Given the description of an element on the screen output the (x, y) to click on. 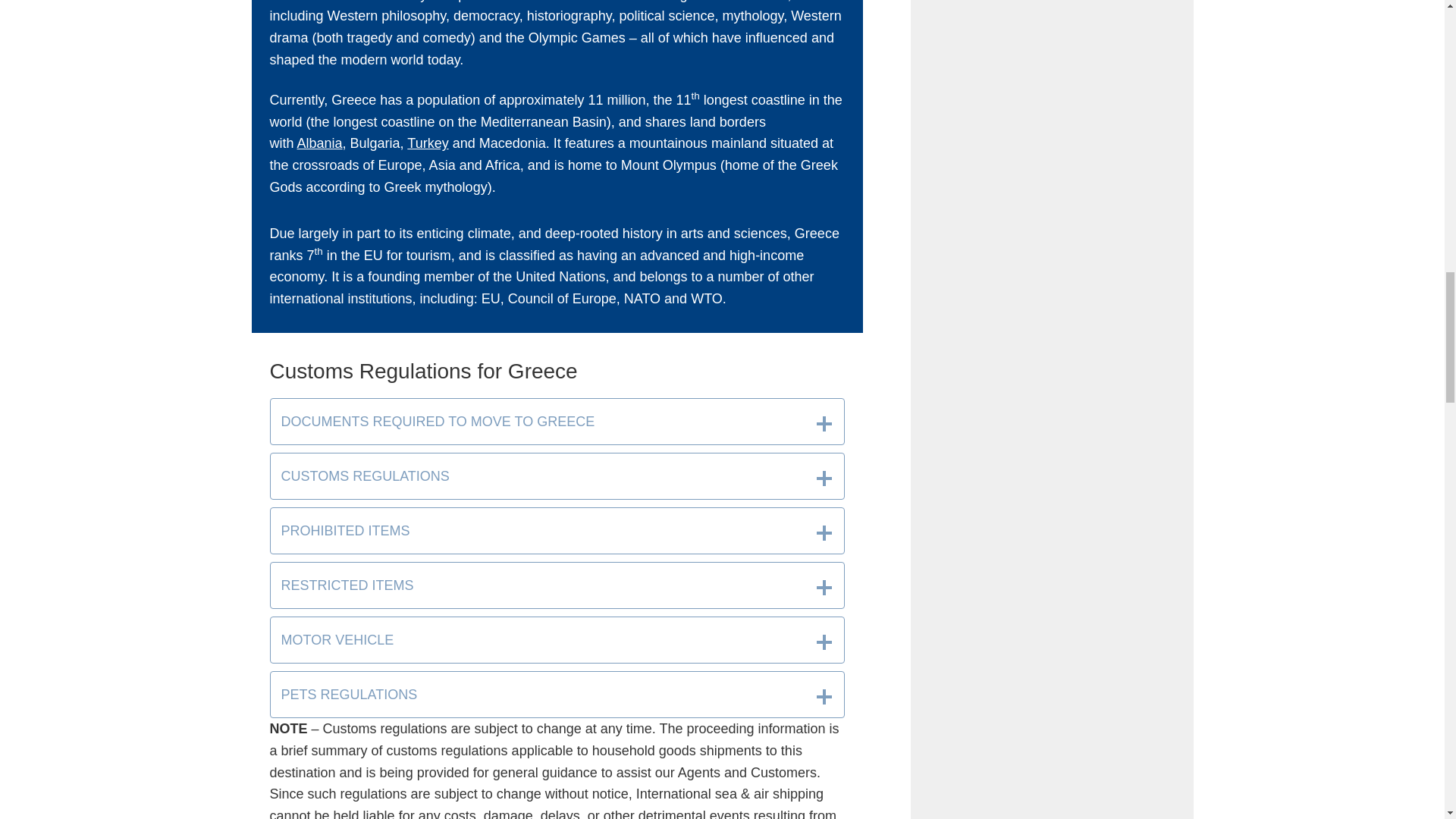
RESTRICTED ITEMS (556, 585)
Turkey (427, 142)
CUSTOMS REGULATIONS (556, 475)
MOTOR VEHICLE (556, 639)
PETS REGULATIONS (556, 694)
PROHIBITED ITEMS (556, 530)
DOCUMENTS REQUIRED TO MOVE TO GREECE (556, 421)
Albania (319, 142)
